Given the description of an element on the screen output the (x, y) to click on. 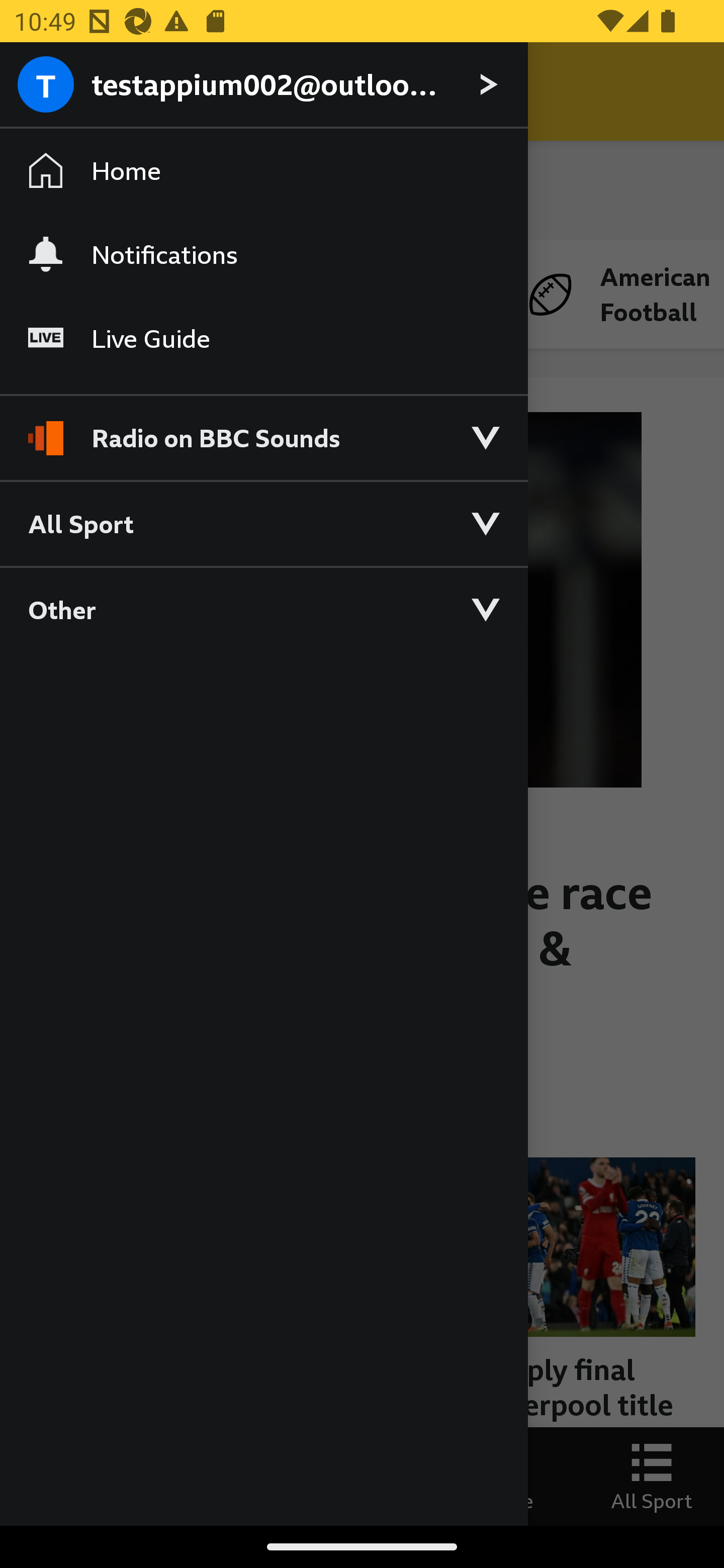
testappium002@outlook.com (263, 85)
Home (263, 170)
Notifications (263, 253)
Live Guide (263, 338)
Radio on BBC Sounds (263, 429)
All Sport (263, 522)
Other (263, 609)
